Given the description of an element on the screen output the (x, y) to click on. 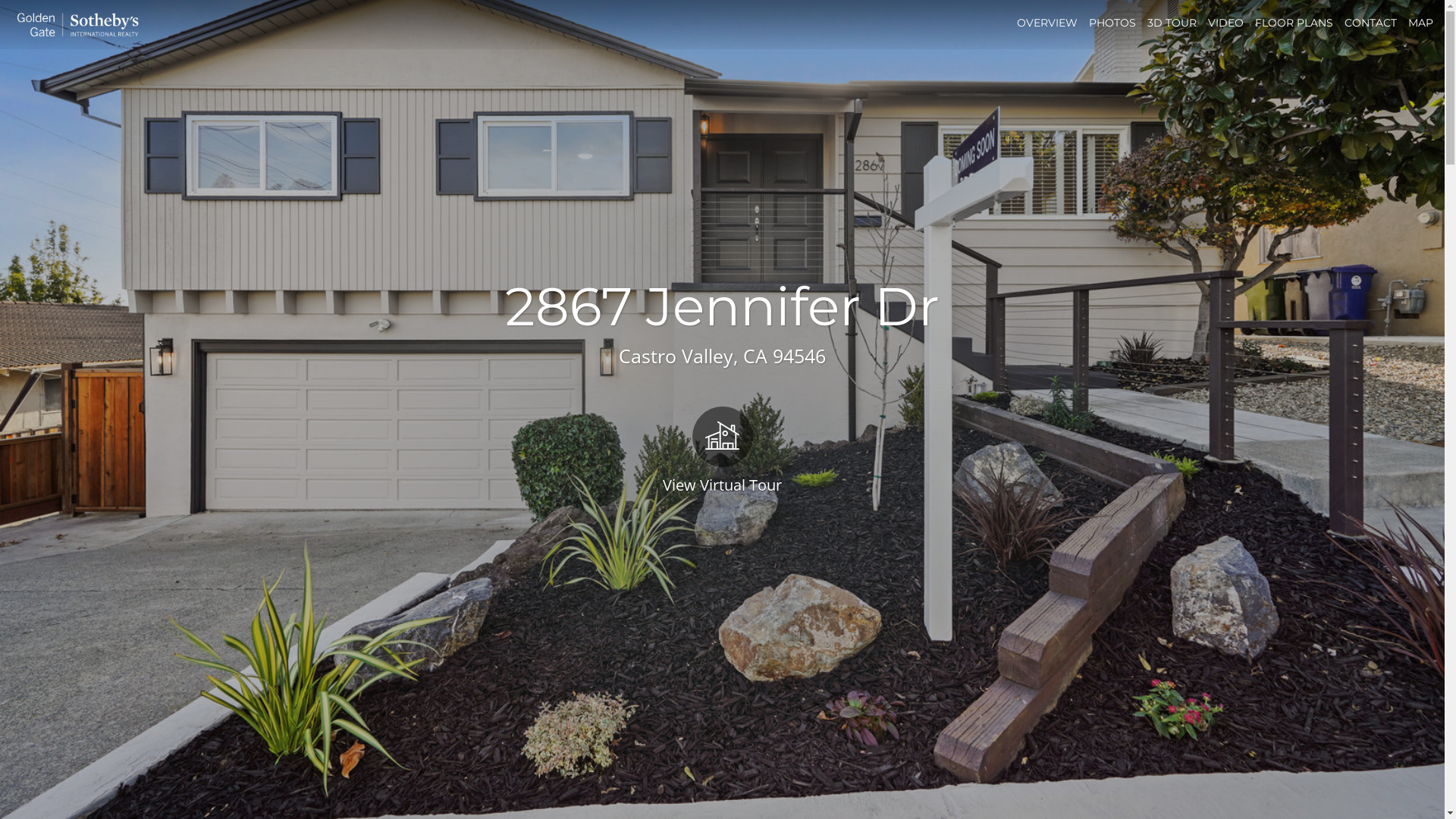
PHOTOS Element type: text (1111, 22)
MAP Element type: text (1420, 22)
VIDEO Element type: text (1225, 22)
CONTACT Element type: text (1370, 22)
OVERVIEW Element type: text (1046, 22)
3D TOUR Element type: text (1171, 22)
View Virtual Tour Element type: text (722, 448)
FLOOR PLANS Element type: text (1294, 22)
